Given the description of an element on the screen output the (x, y) to click on. 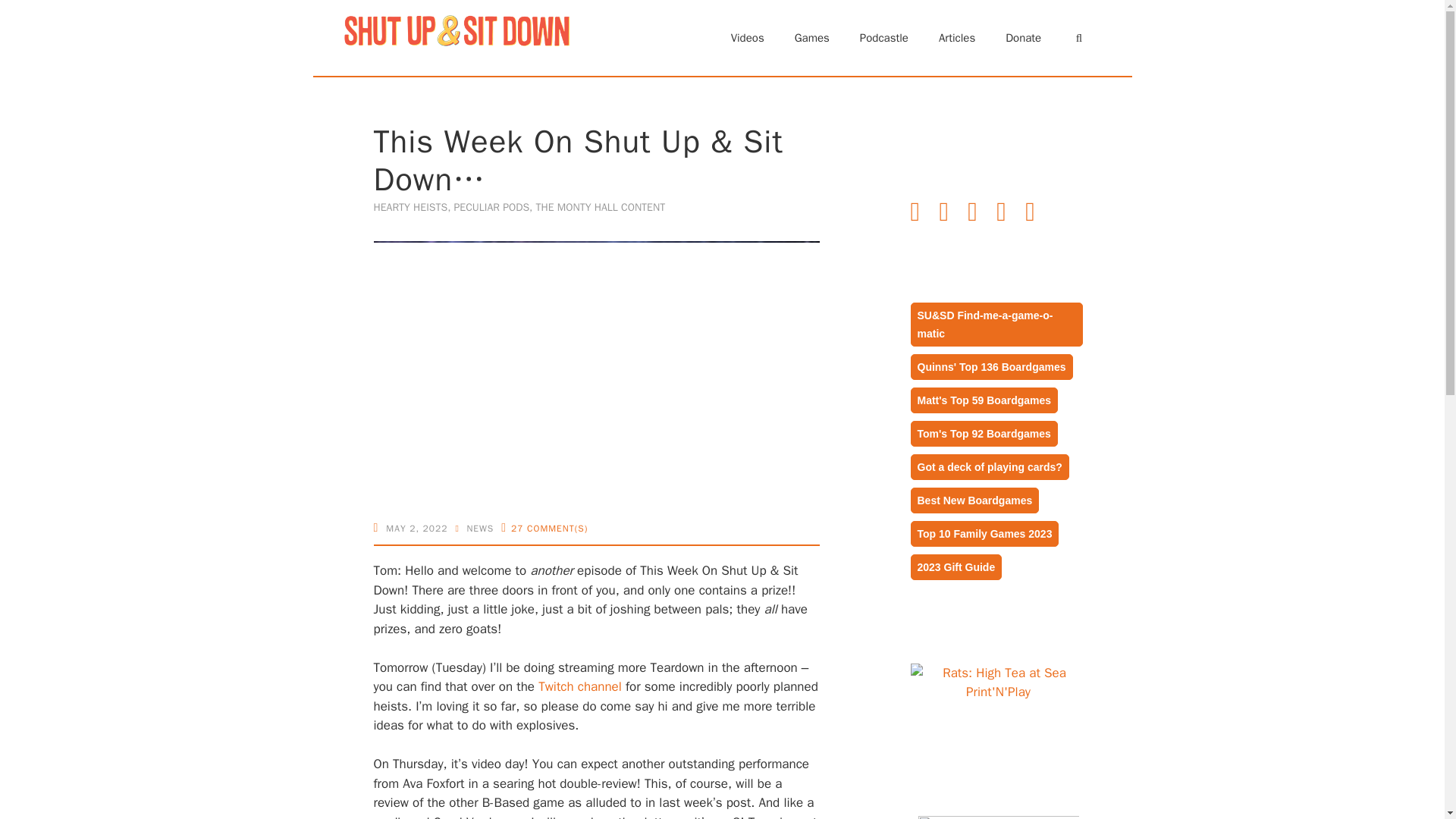
NEWS (479, 528)
Matt's Top 59 Boardgames (984, 399)
Games (811, 37)
Podcastle (883, 37)
Got a deck of playing cards? (989, 467)
Twitch channel (579, 686)
Donate (1023, 37)
Videos (747, 37)
Tom's Top 92 Boardgames (984, 433)
Articles (956, 37)
